Given the description of an element on the screen output the (x, y) to click on. 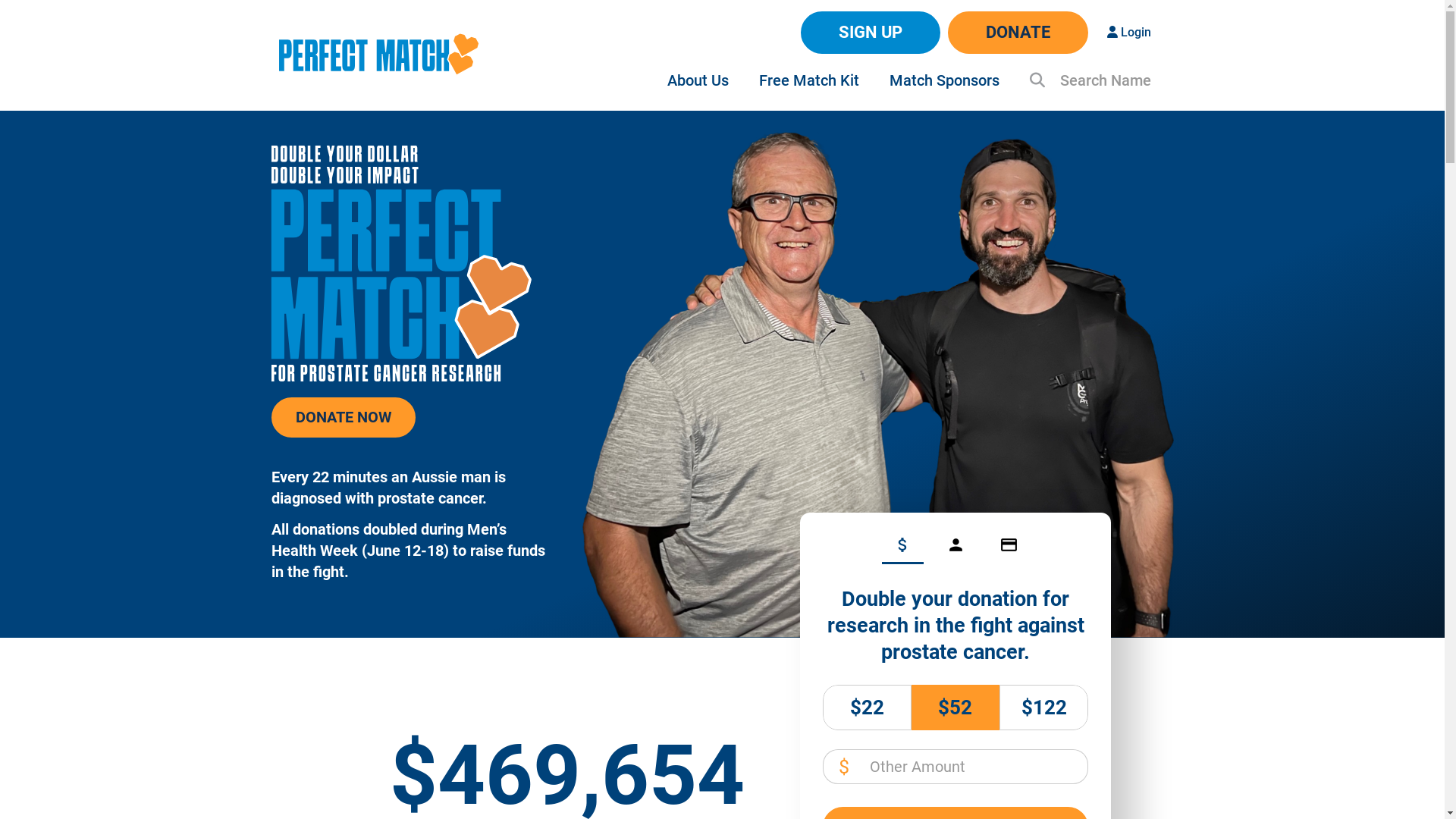
SIGN UP Element type: text (870, 32)
DONATE Element type: text (1017, 32)
About Us Element type: text (697, 80)
DONATE NOW Element type: text (343, 417)
Match Sponsors Element type: text (943, 80)
Search Name Element type: text (1090, 80)
Login Element type: text (1129, 32)
Free Match Kit Element type: text (808, 80)
